Given the description of an element on the screen output the (x, y) to click on. 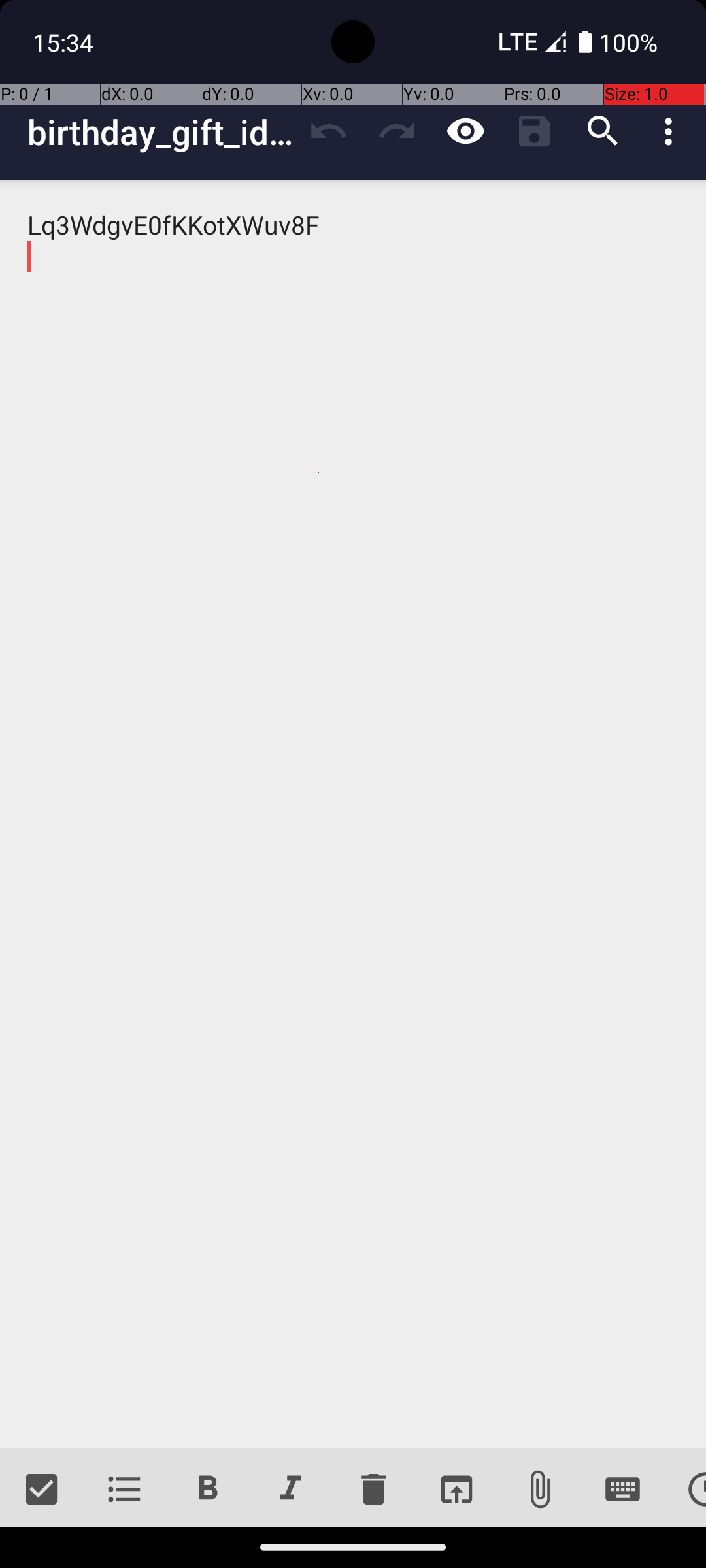
birthday_gift_ideas_mom_rPuG Element type: android.widget.TextView (160, 131)
Lq3WdgvE0fKKotXWuv8F
 Element type: android.widget.EditText (353, 813)
